Given the description of an element on the screen output the (x, y) to click on. 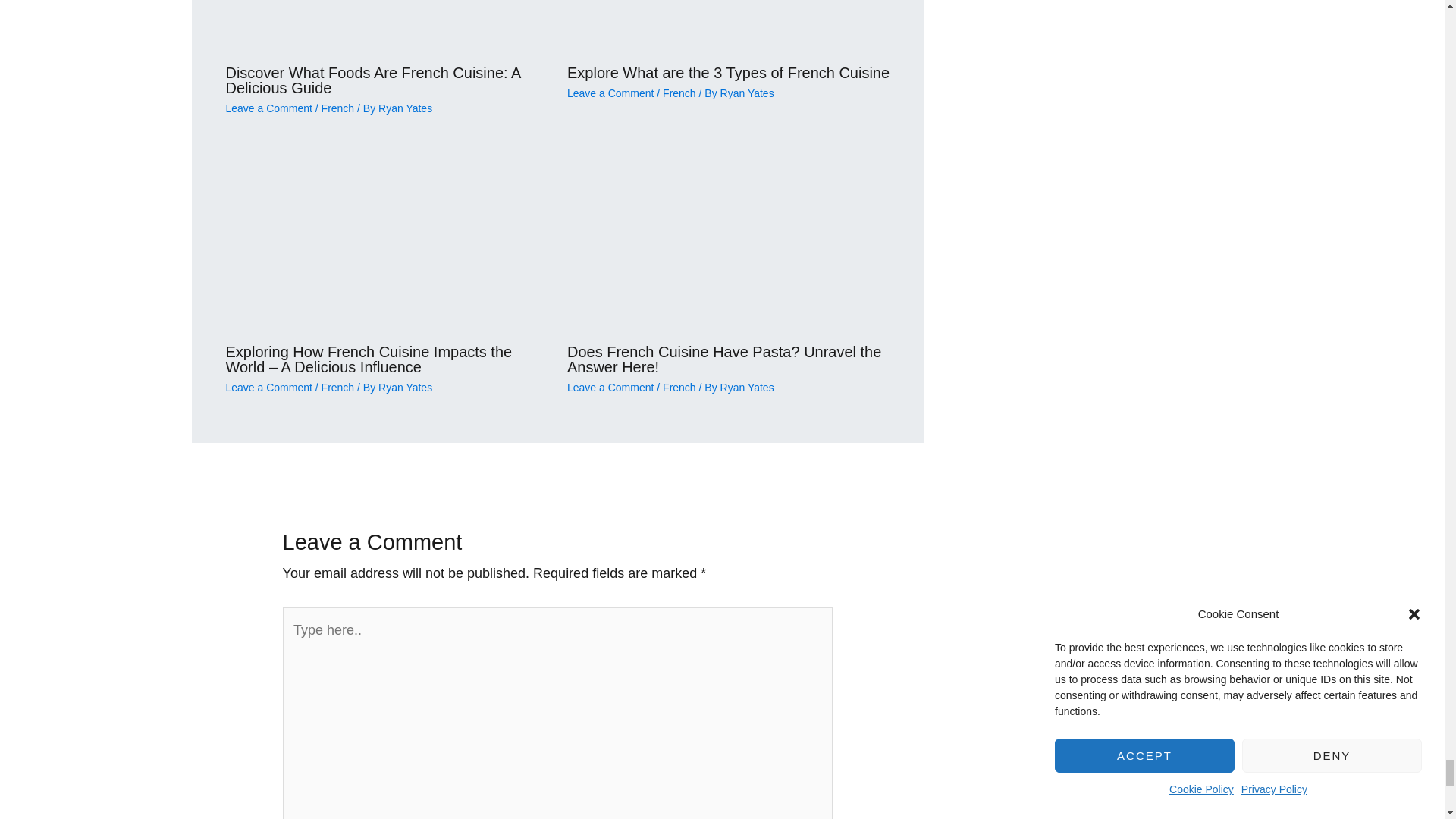
View all posts by Ryan Yates (405, 387)
View all posts by Ryan Yates (747, 387)
View all posts by Ryan Yates (405, 108)
View all posts by Ryan Yates (747, 92)
